Given the description of an element on the screen output the (x, y) to click on. 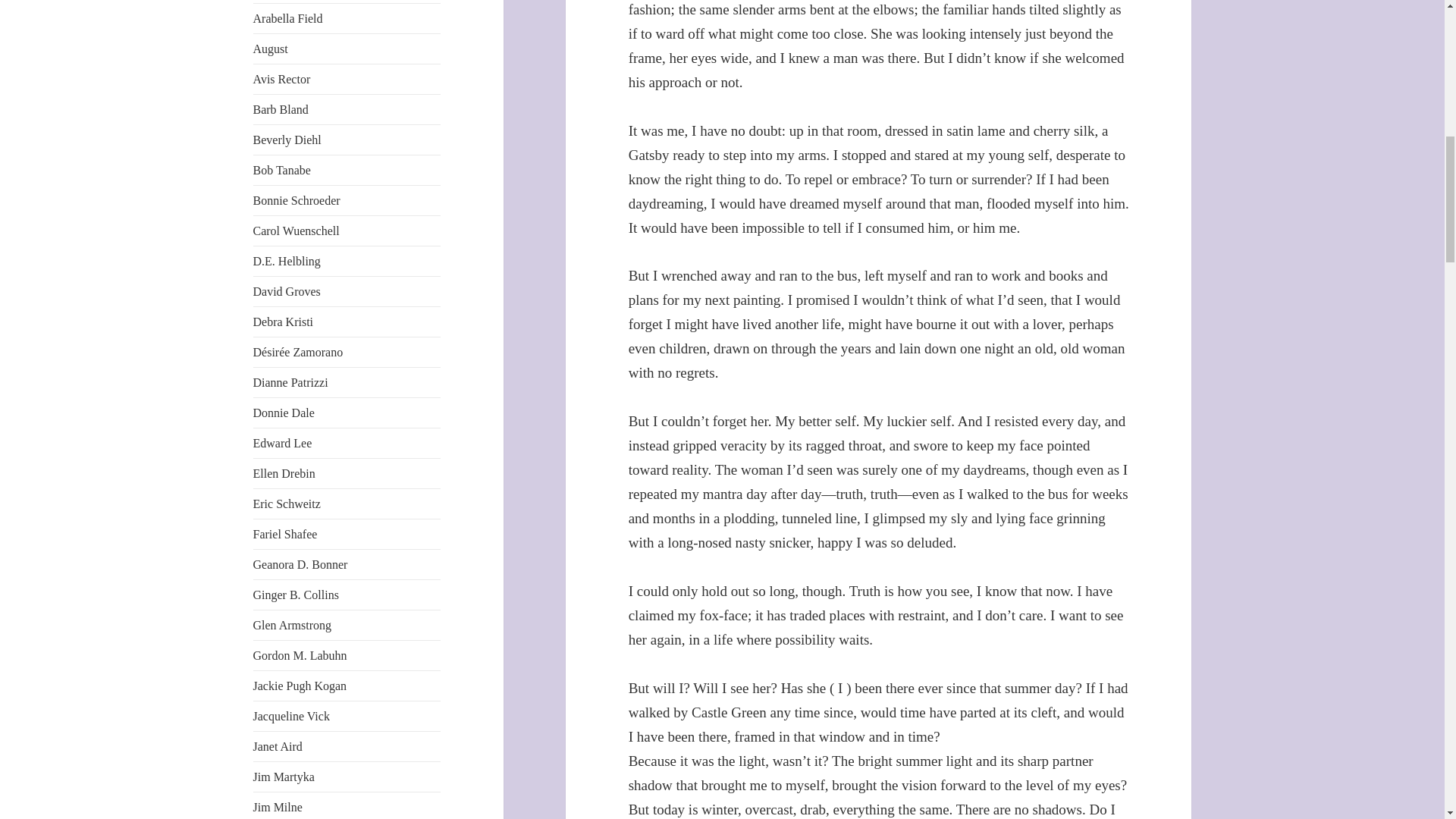
August (270, 48)
Bonnie Schroeder (296, 200)
Avis Rector (282, 78)
Dianne Patrizzi (291, 382)
David Groves (286, 291)
D.E. Helbling (286, 260)
Barb Bland (280, 109)
Arabella Field (288, 18)
Carol Wuenschell (296, 230)
Ginger B. Collins (296, 594)
Beverly Diehl (287, 139)
Donnie Dale (283, 412)
Glen Armstrong (292, 625)
Bob Tanabe (282, 169)
Edward Lee (283, 442)
